Given the description of an element on the screen output the (x, y) to click on. 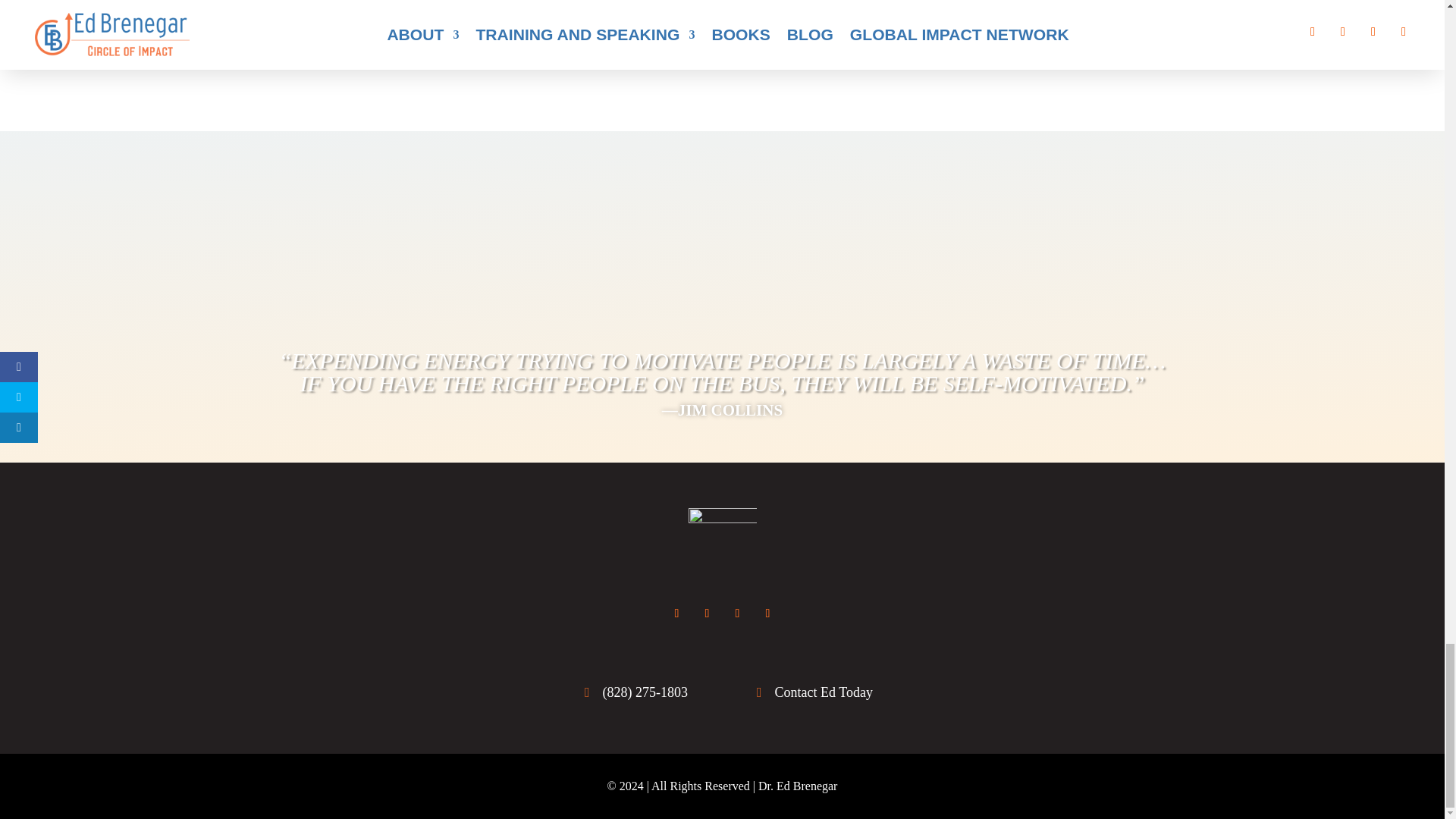
Follow on Facebook (675, 613)
Follow on LinkedIn (737, 613)
Follow on Youtube (766, 613)
Follow on Twitter (706, 613)
